Given the description of an element on the screen output the (x, y) to click on. 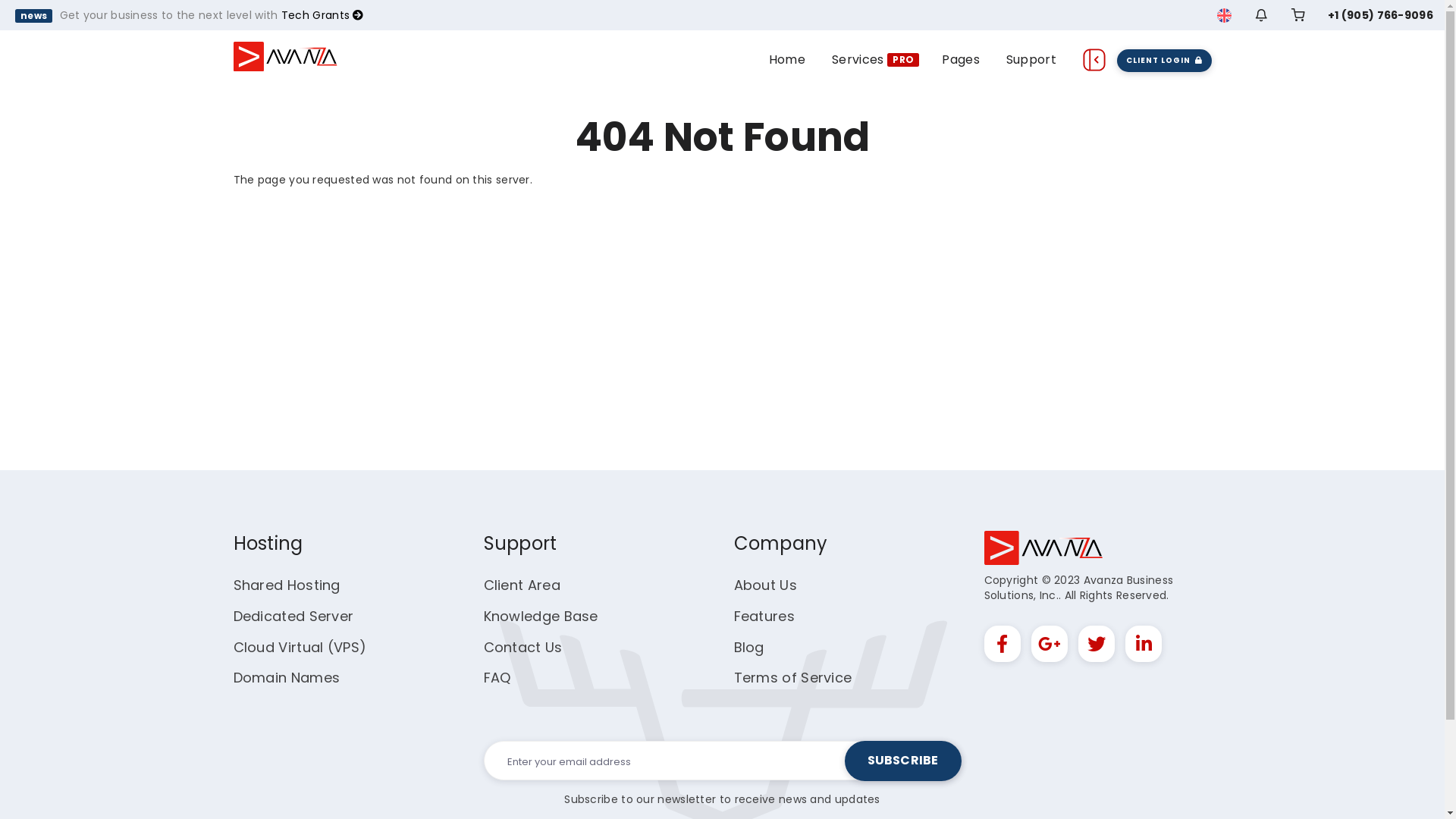
Features Element type: text (764, 615)
Contact Us Element type: text (522, 646)
Support Element type: text (1031, 58)
FAQ Element type: text (497, 677)
SUBSCRIBE Element type: text (902, 760)
Tech Grants Element type: text (322, 14)
Domain Names Element type: text (286, 677)
Blog Element type: text (749, 646)
Client Area Element type: text (521, 584)
Home Element type: text (786, 58)
Terms of Service Element type: text (793, 677)
Dedicated Server Element type: text (293, 615)
Services Element type: text (857, 58)
Cloud Virtual (VPS) Element type: text (300, 646)
Shared Hosting Element type: text (286, 584)
CLIENT LOGIN Element type: text (1164, 59)
Knowledge Base Element type: text (540, 615)
+1 (905) 766-9096 Element type: text (1380, 15)
Login Element type: text (1236, 225)
Pages Element type: text (960, 58)
About Us Element type: text (765, 584)
